Given the description of an element on the screen output the (x, y) to click on. 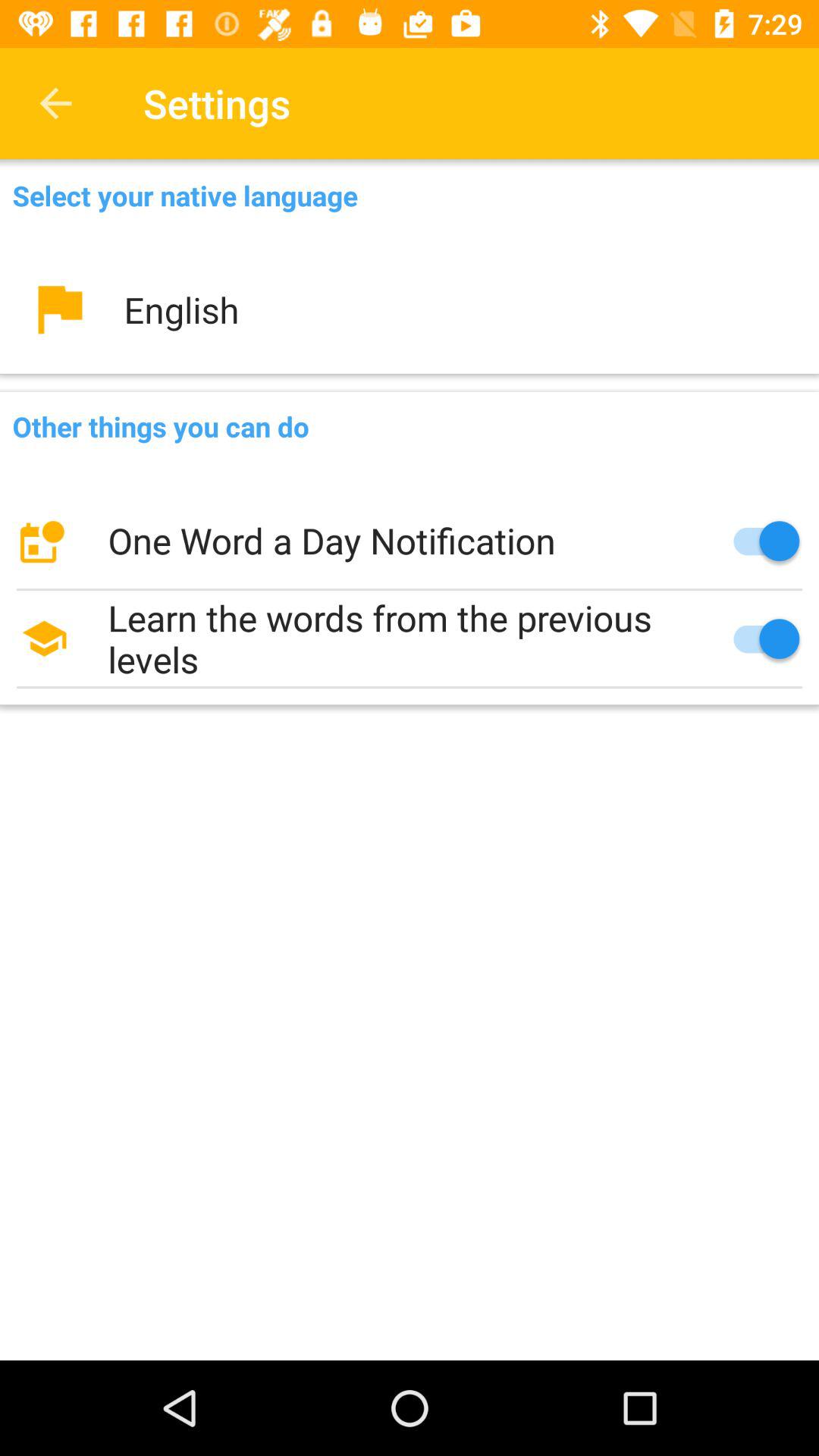
press icon to the left of the settings (55, 103)
